Given the description of an element on the screen output the (x, y) to click on. 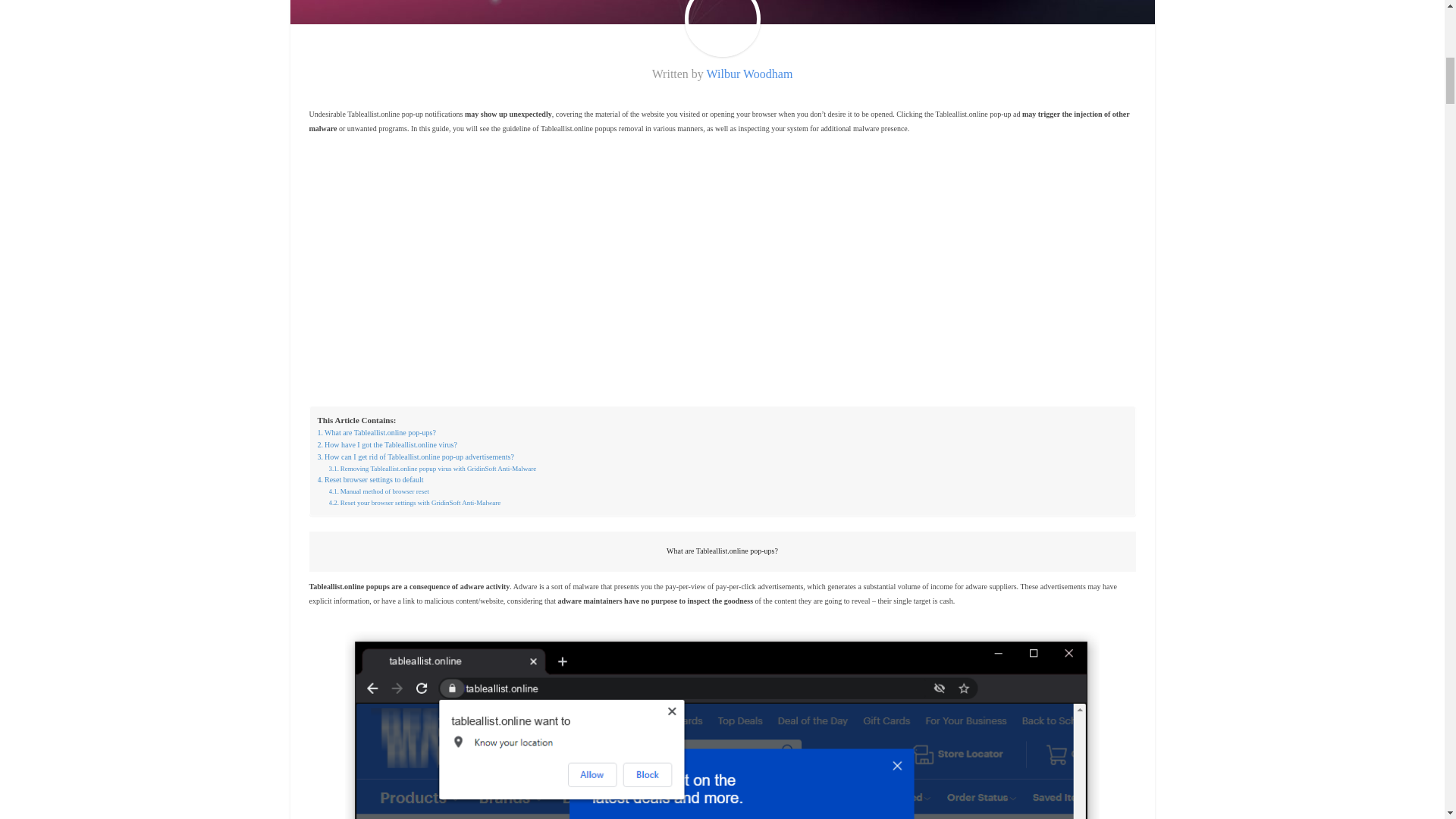
Manual method of browser reset (379, 491)
What are Tableallist.online pop-ups? (376, 432)
Reset your browser settings with GridinSoft Anti-Malware (414, 502)
How have I got the Tableallist.online virus? (387, 444)
Reset browser settings to default (370, 480)
Reset your browser settings with GridinSoft Anti-Malware (414, 502)
Manual method of browser reset (379, 491)
Reset browser settings to default (370, 480)
Wilbur Woodham (749, 73)
What are Tableallist.online pop-ups? (376, 432)
How have I got the Tableallist.online virus? (387, 444)
